Given the description of an element on the screen output the (x, y) to click on. 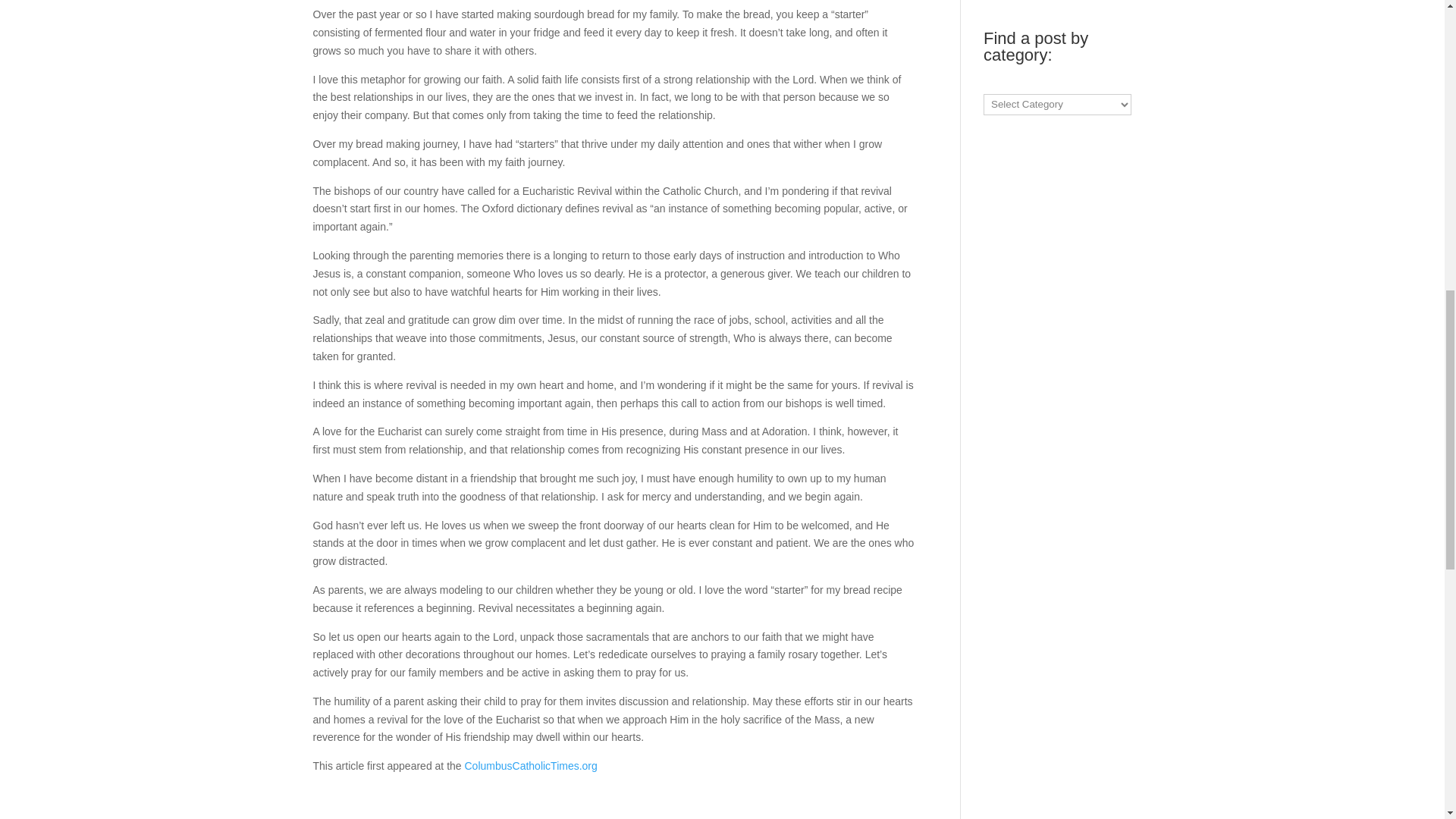
ColumbusCatholicTimes.org (530, 766)
